Given the description of an element on the screen output the (x, y) to click on. 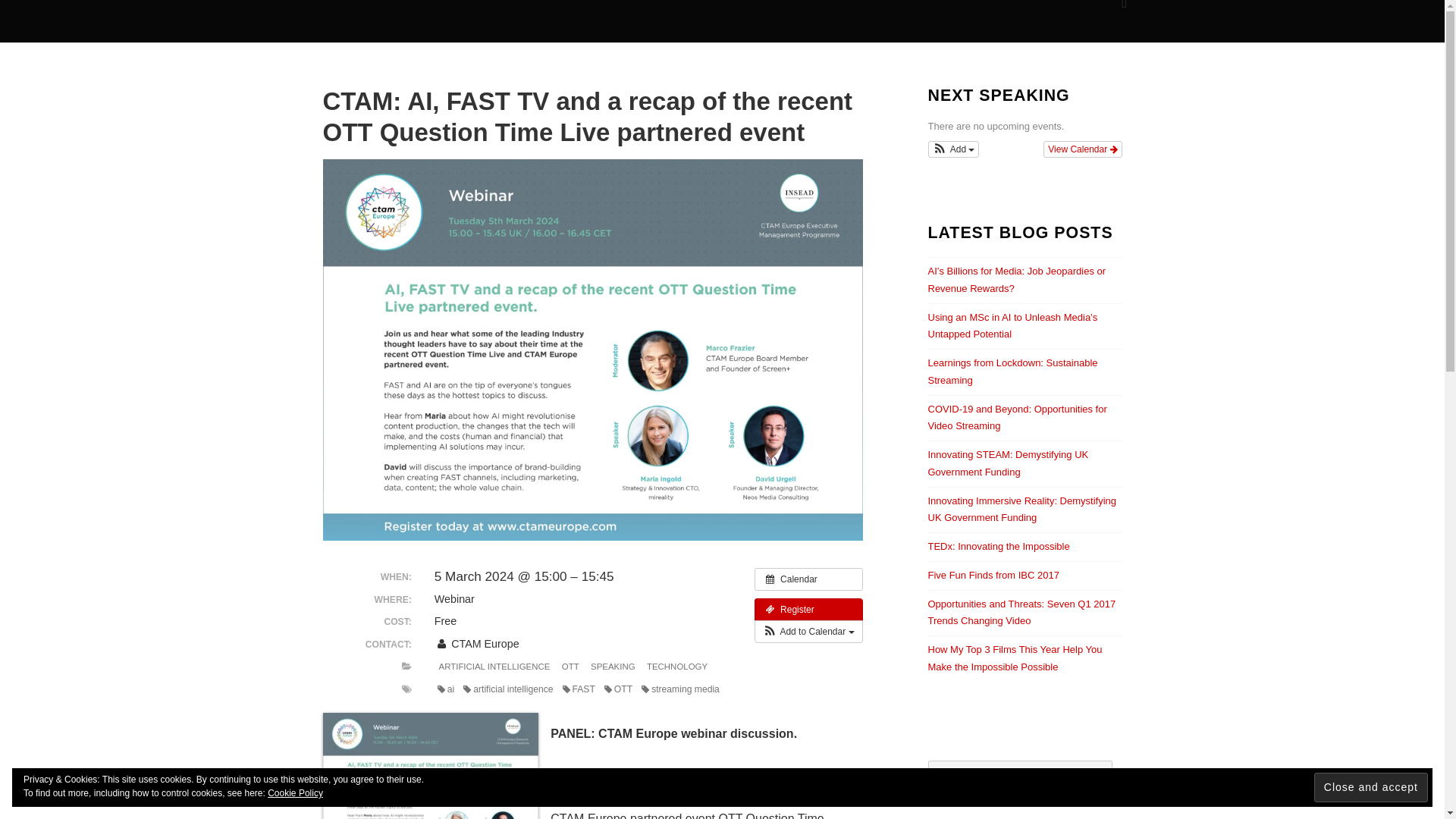
streaming media (680, 689)
Register (808, 609)
Tags (406, 688)
View all events (808, 579)
Categories (406, 665)
TECHNOLOGY (676, 666)
ai (445, 689)
View Calendar (1082, 149)
Register (808, 609)
ARTIFICIAL INTELLIGENCE (493, 666)
